Given the description of an element on the screen output the (x, y) to click on. 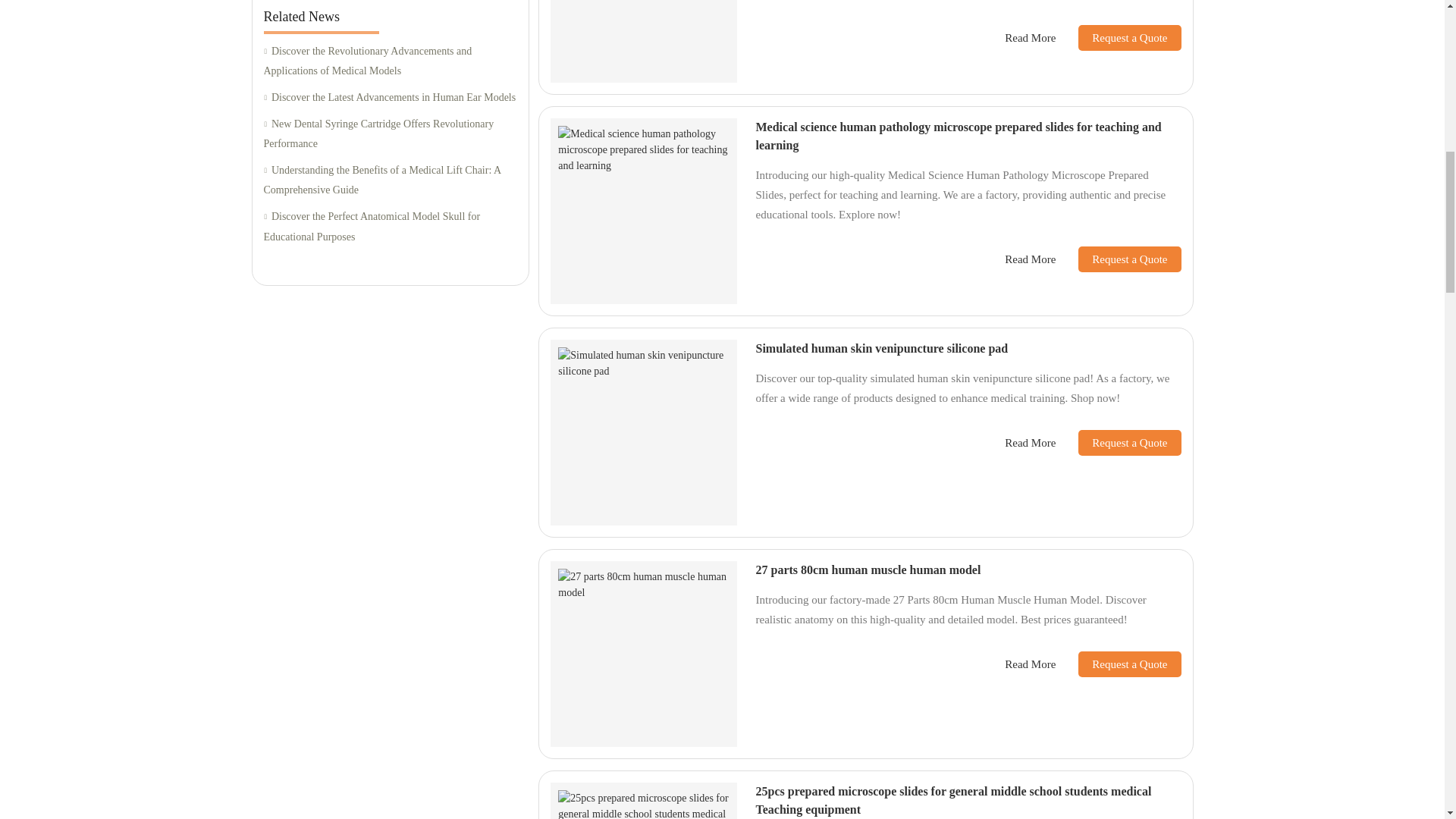
Discover the Latest Advancements in Human Ear Models (389, 97)
